Given the description of an element on the screen output the (x, y) to click on. 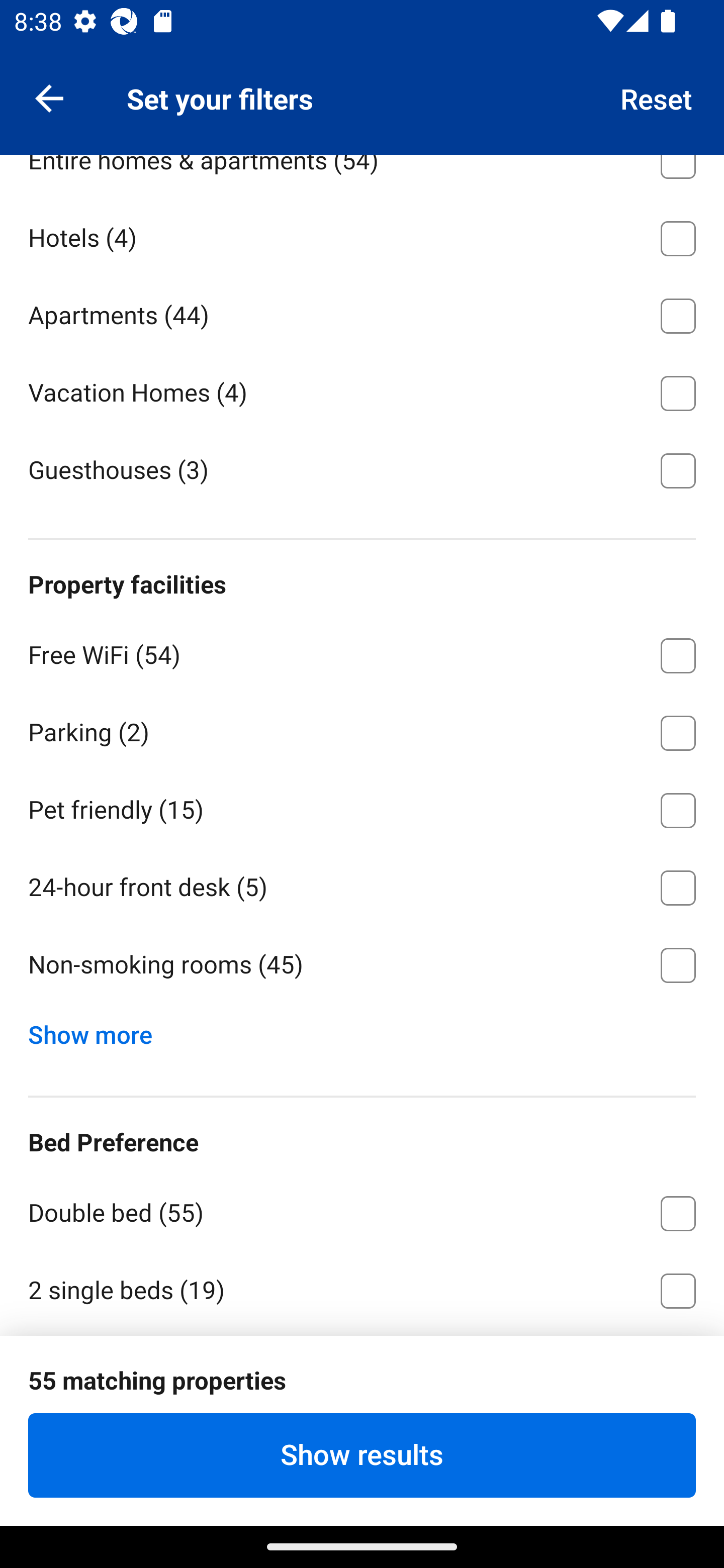
Navigate up (49, 97)
Reset (656, 97)
Entire homes & apartments ⁦(54) (361, 175)
Hotels ⁦(4) (361, 235)
Apartments ⁦(44) (361, 312)
Vacation Homes ⁦(4) (361, 389)
Guesthouses ⁦(3) (361, 468)
Free WiFi ⁦(54) (361, 652)
Parking ⁦(2) (361, 729)
Pet friendly ⁦(15) (361, 806)
24-hour front desk ⁦(5) (361, 884)
Non-smoking rooms ⁦(45) (361, 965)
Show more (97, 1030)
Double bed ⁦(55) (361, 1209)
2 single beds ⁦(19) (361, 1288)
Show results (361, 1454)
